Given the description of an element on the screen output the (x, y) to click on. 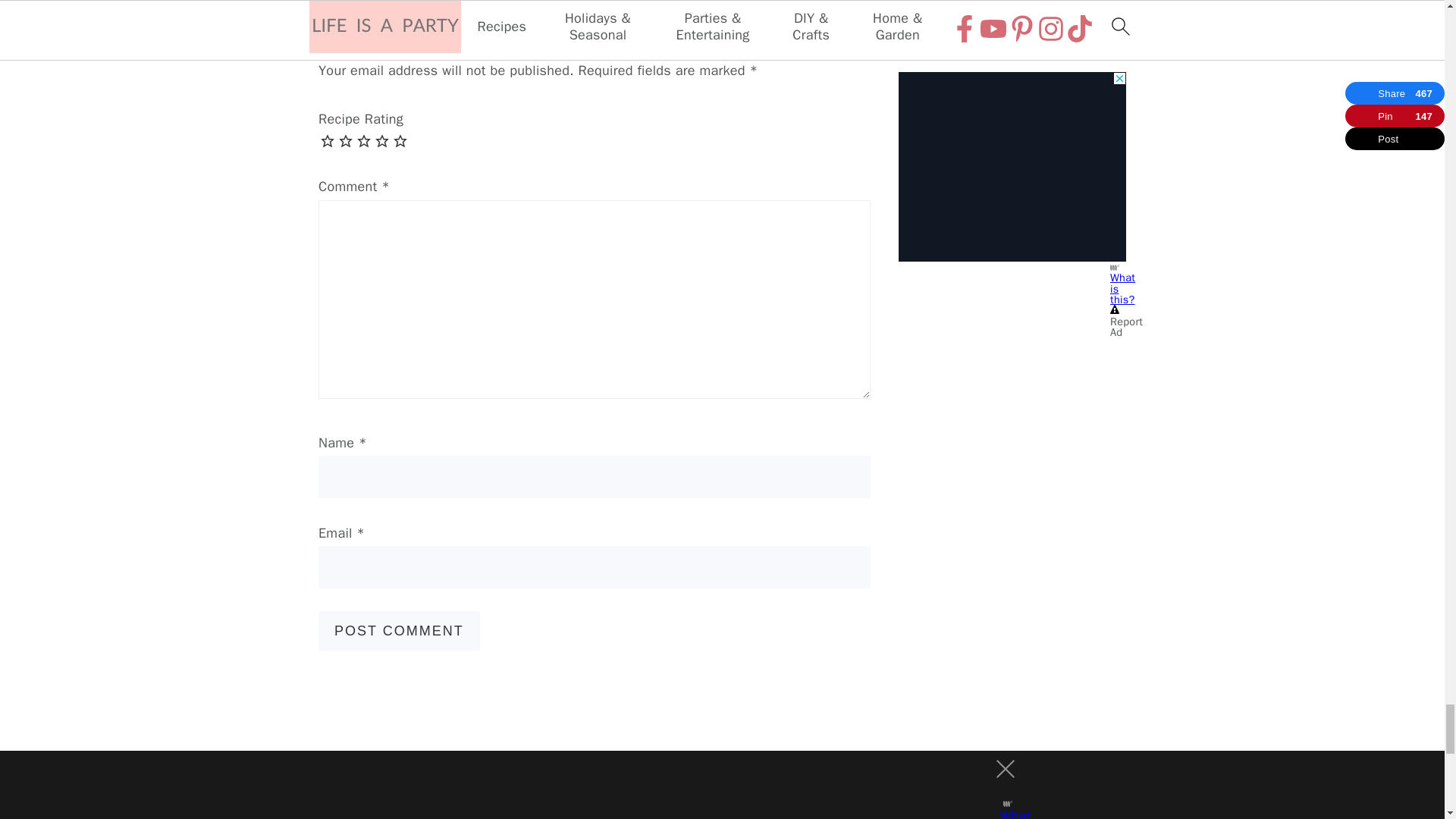
Post Comment (399, 630)
